Given the description of an element on the screen output the (x, y) to click on. 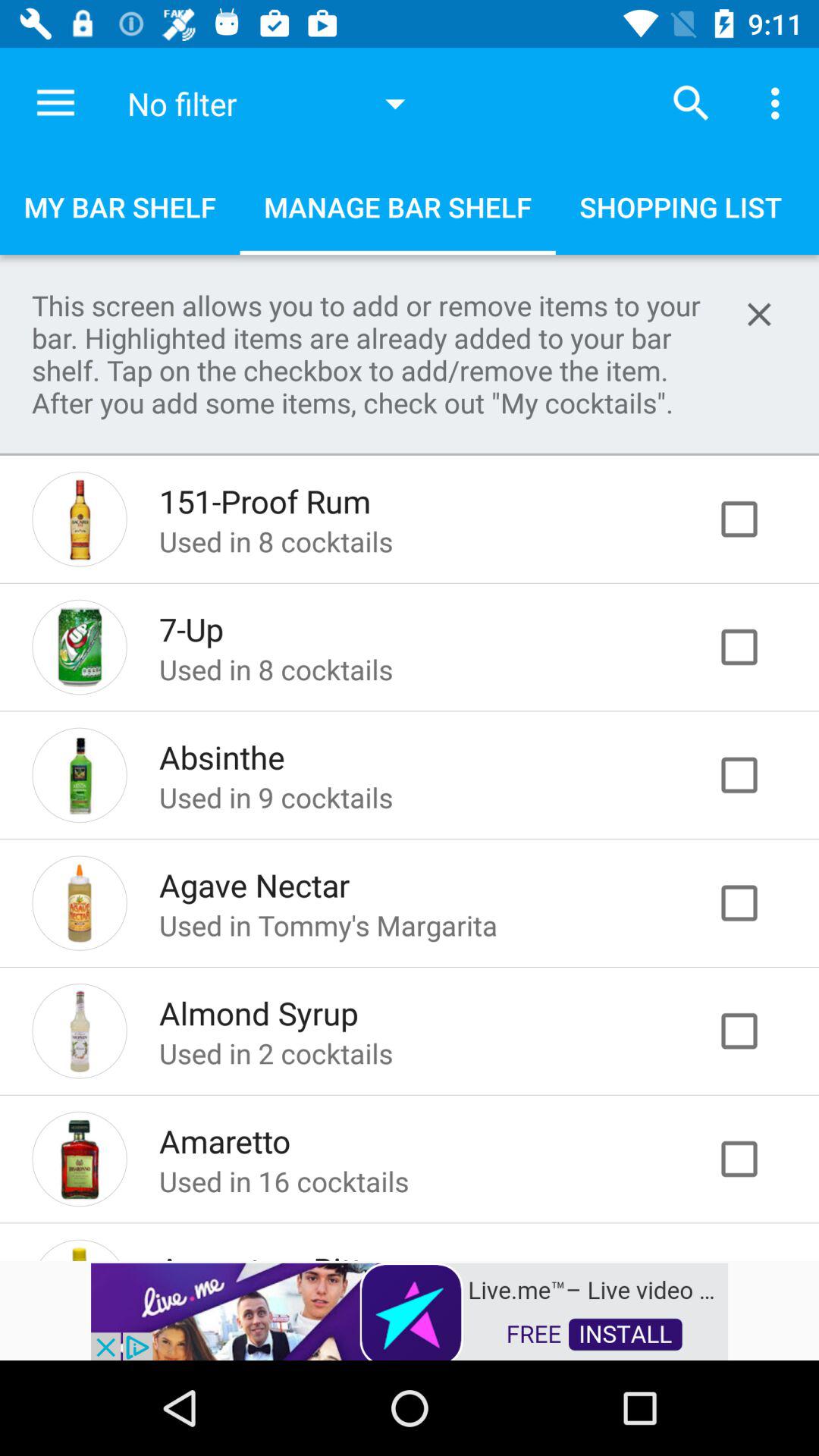
ok (755, 774)
